Given the description of an element on the screen output the (x, y) to click on. 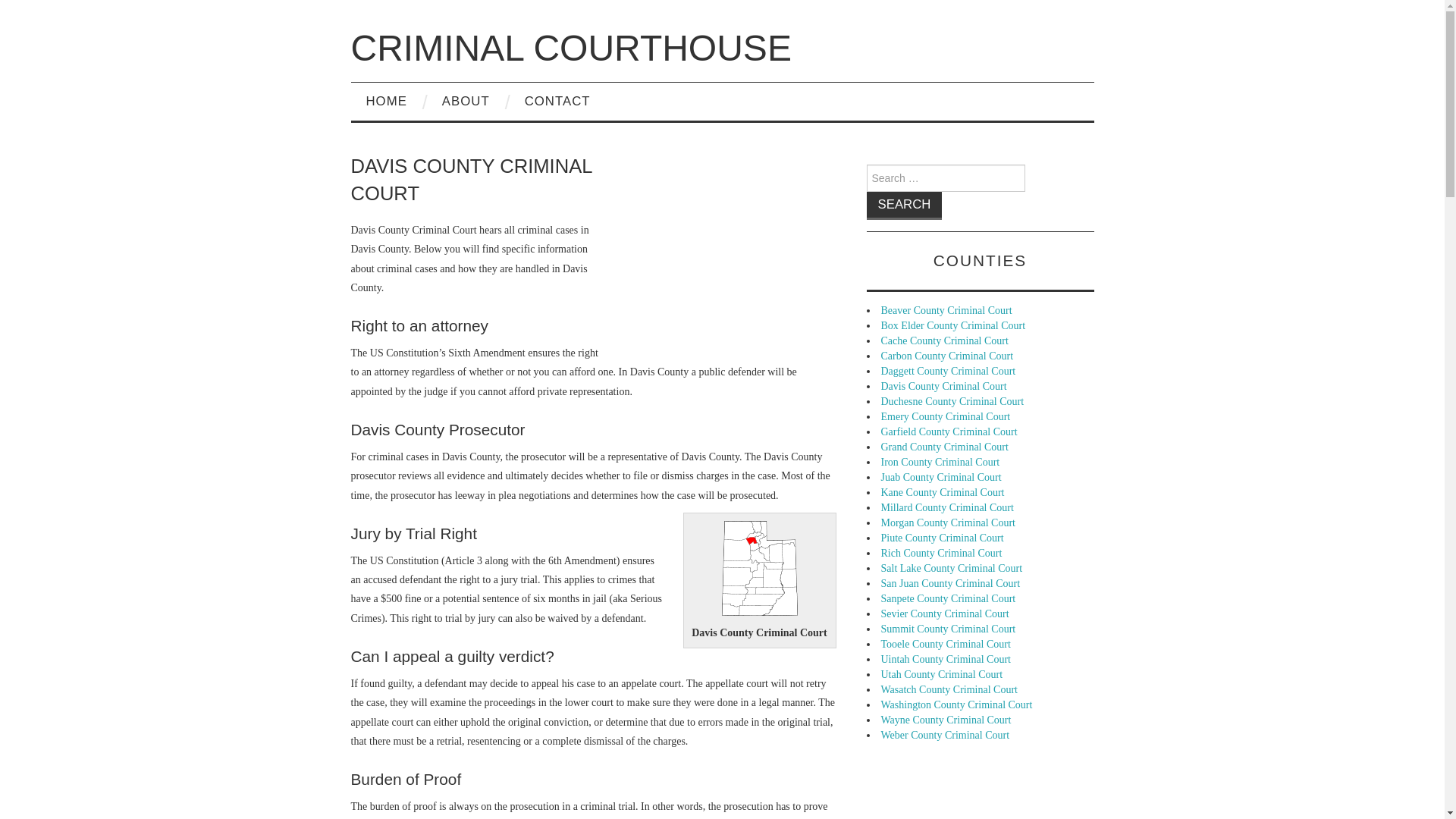
Search (904, 205)
Emery County Criminal Court (945, 416)
Rich County Criminal Court (941, 552)
Search for: (945, 177)
Juab County Criminal Court (940, 477)
Beaver County Criminal Court (945, 310)
Duchesne County Criminal Court (952, 401)
Search (904, 205)
Kane County Criminal Court (942, 491)
Uintah County Criminal Court (945, 659)
Washington County Criminal Court (956, 704)
Piute County Criminal Court (942, 537)
Wayne County Criminal Court (945, 719)
Morgan County Criminal Court (947, 522)
Iron County Criminal Court (940, 461)
